Given the description of an element on the screen output the (x, y) to click on. 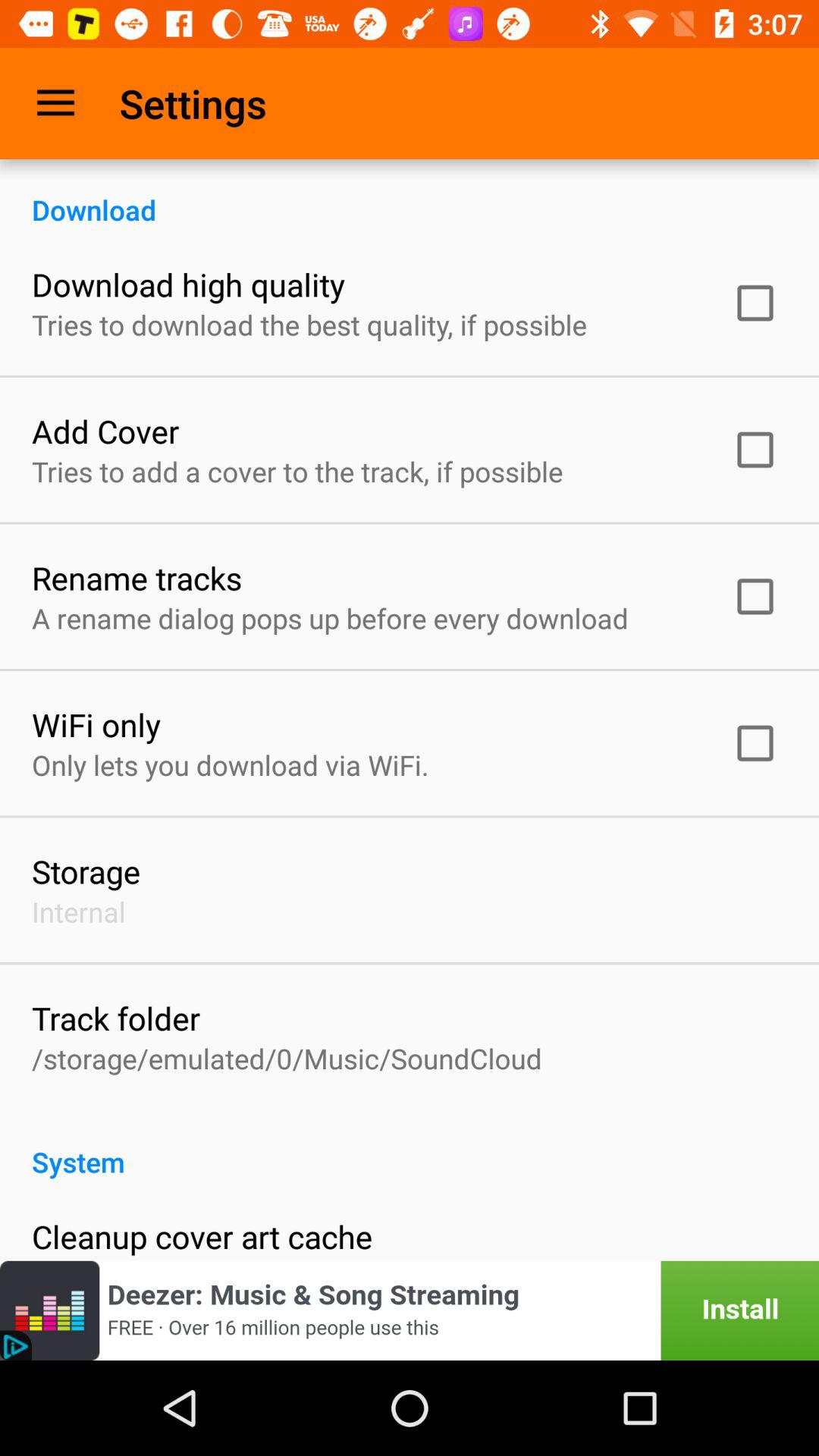
choose the track folder item (115, 1017)
